Given the description of an element on the screen output the (x, y) to click on. 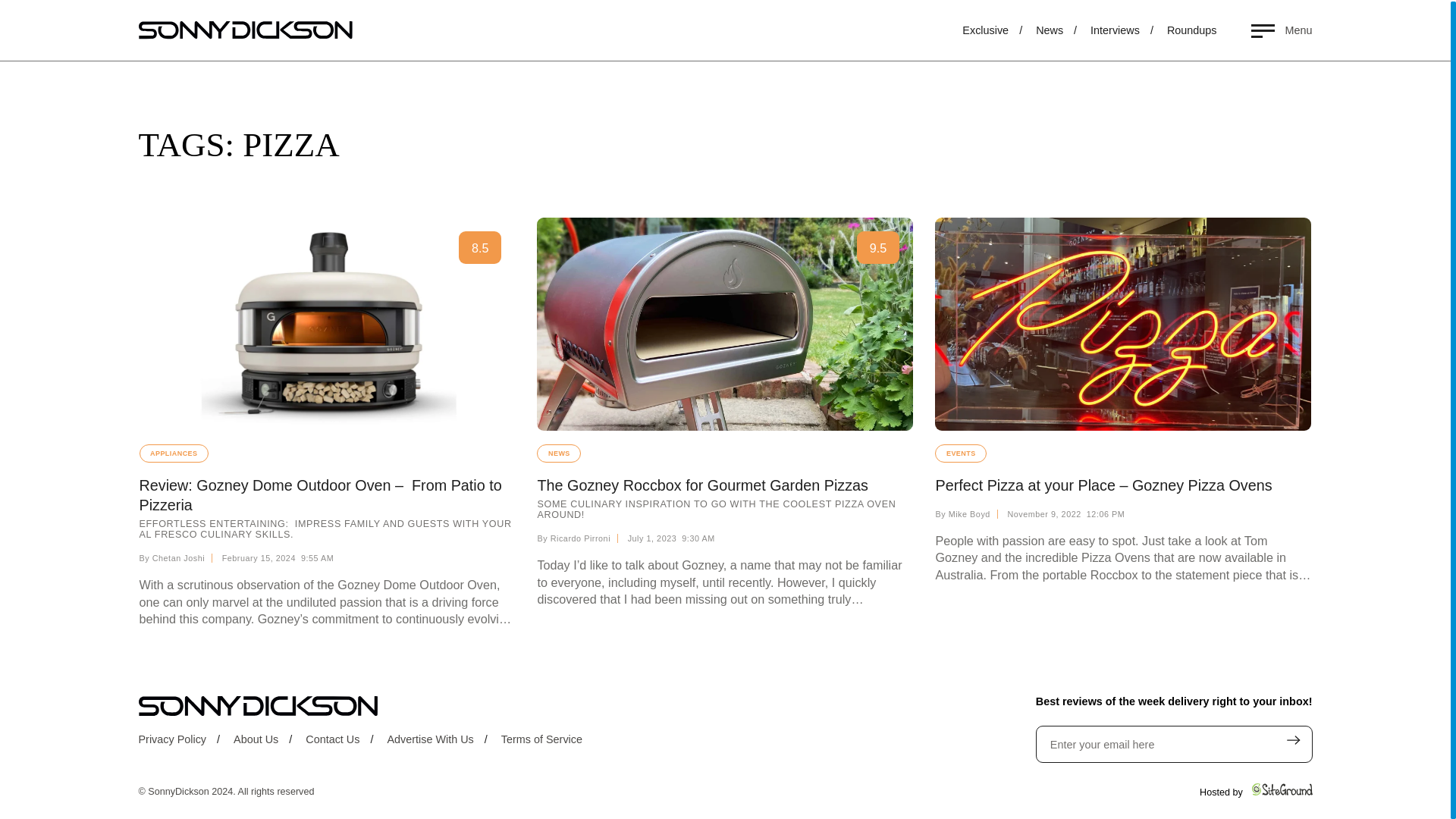
Interviews (1238, 31)
News (1165, 31)
Roundups (1316, 31)
Exclusive (1101, 31)
